Given the description of an element on the screen output the (x, y) to click on. 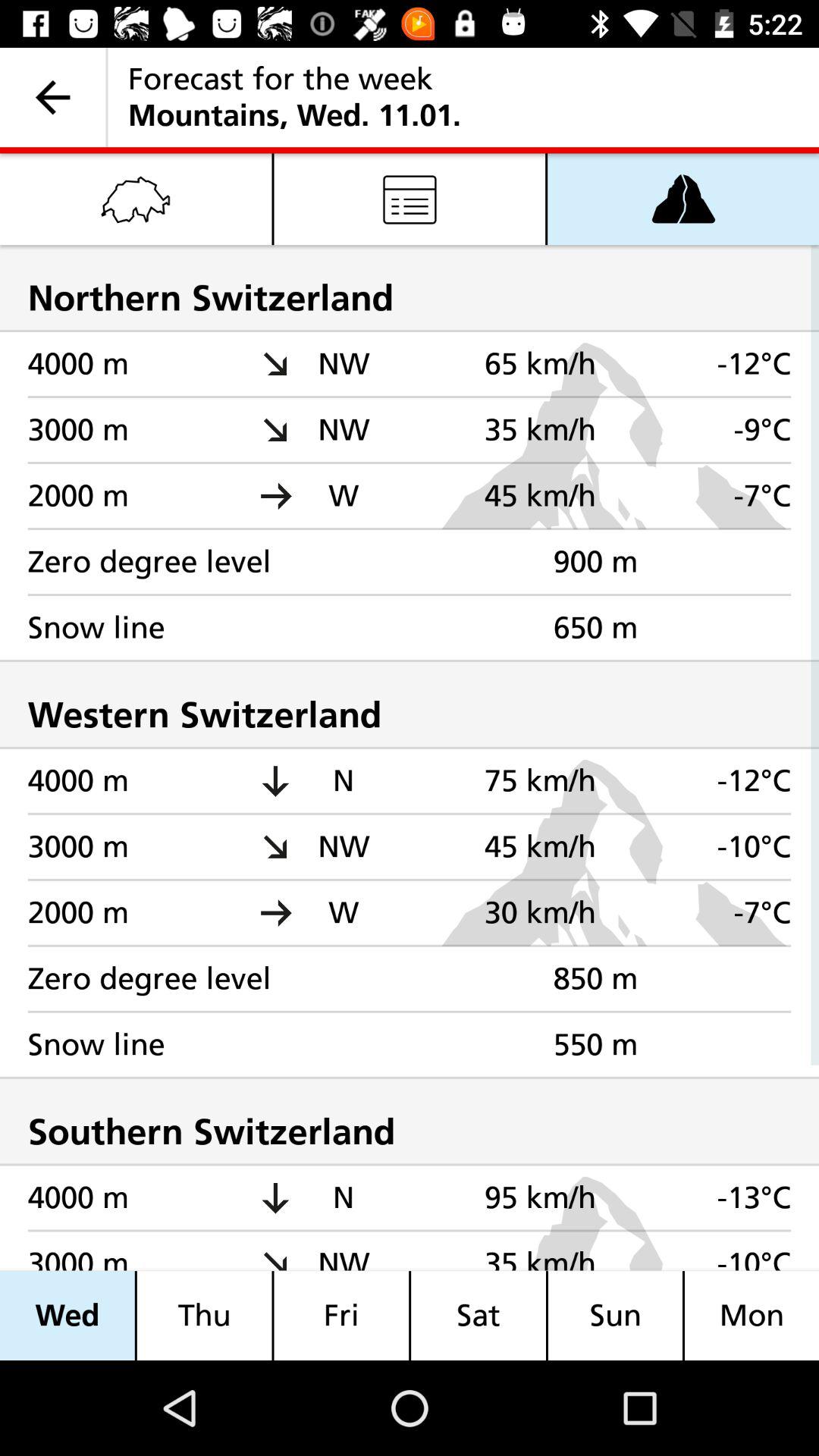
choose the item above the northern switzerland icon (135, 199)
